Given the description of an element on the screen output the (x, y) to click on. 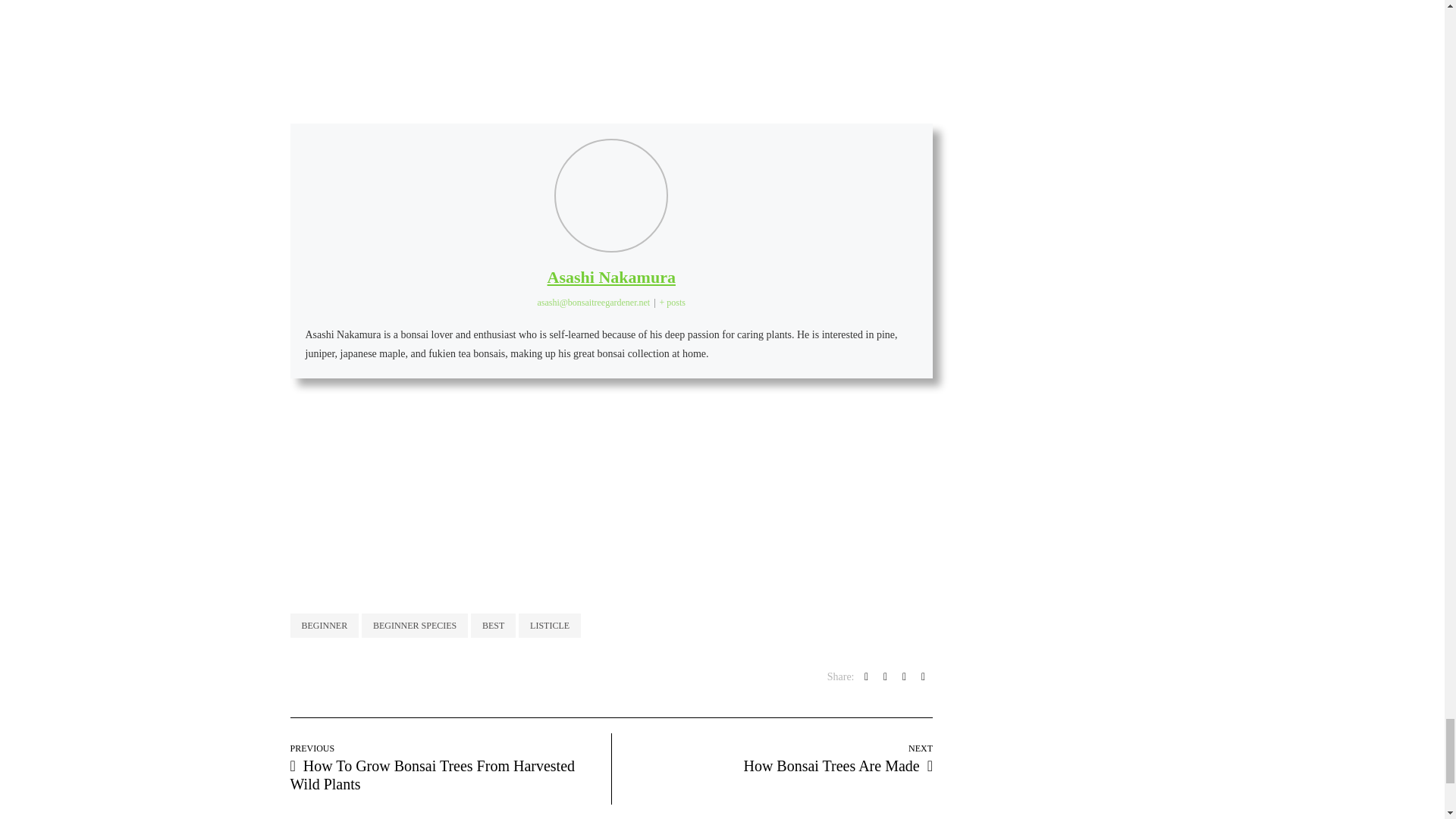
Pin this (923, 676)
Share with LinkedIn (904, 676)
Share with Facebook (866, 676)
Tweet this (885, 676)
